Given the description of an element on the screen output the (x, y) to click on. 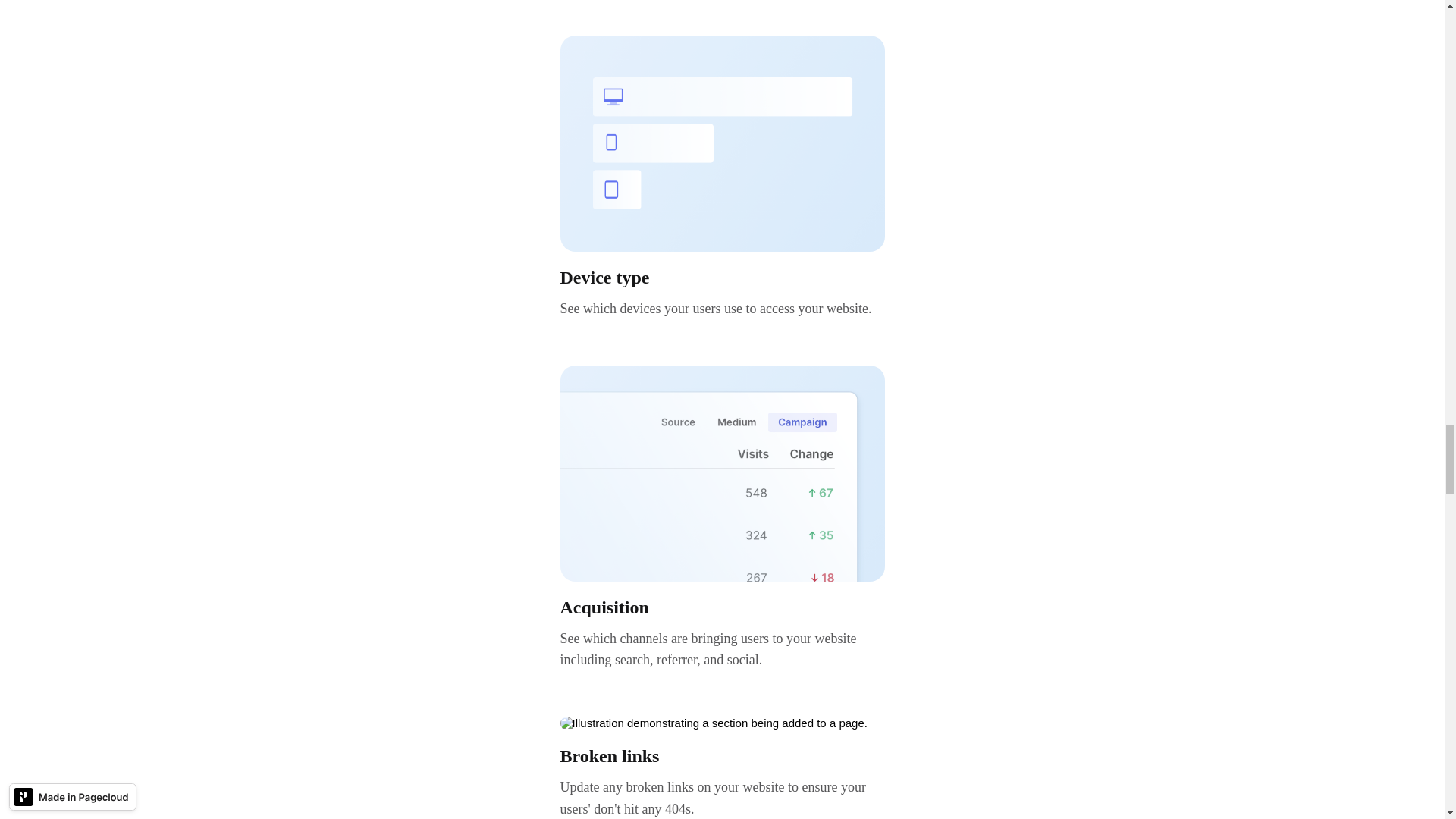
Brand colors (721, 143)
Libraries of sections (721, 723)
Hands on support illustration (721, 473)
